Given the description of an element on the screen output the (x, y) to click on. 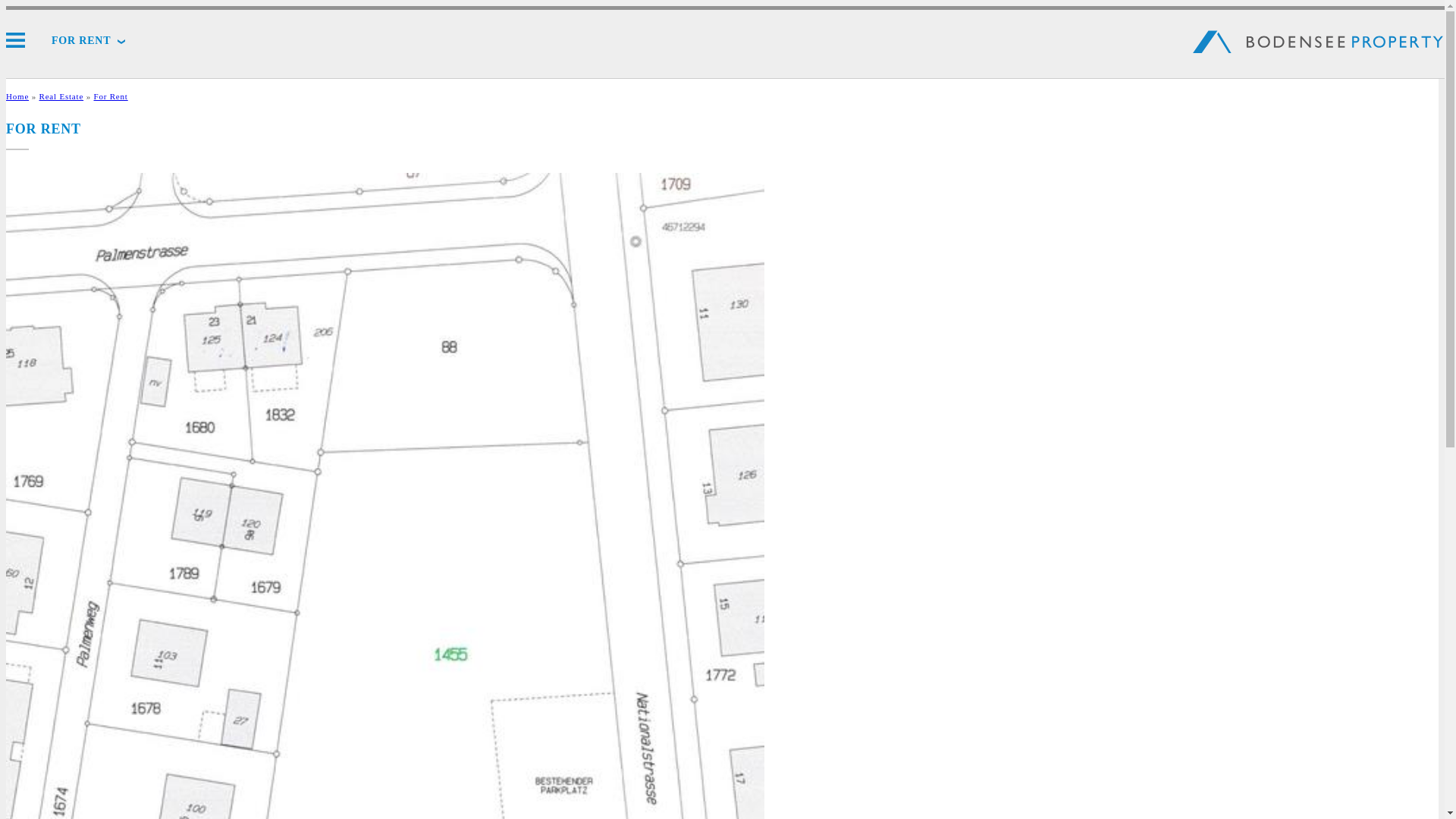
Home Element type: text (17, 95)
Real Estate Element type: text (61, 95)
For Rent Element type: text (111, 95)
